Given the description of an element on the screen output the (x, y) to click on. 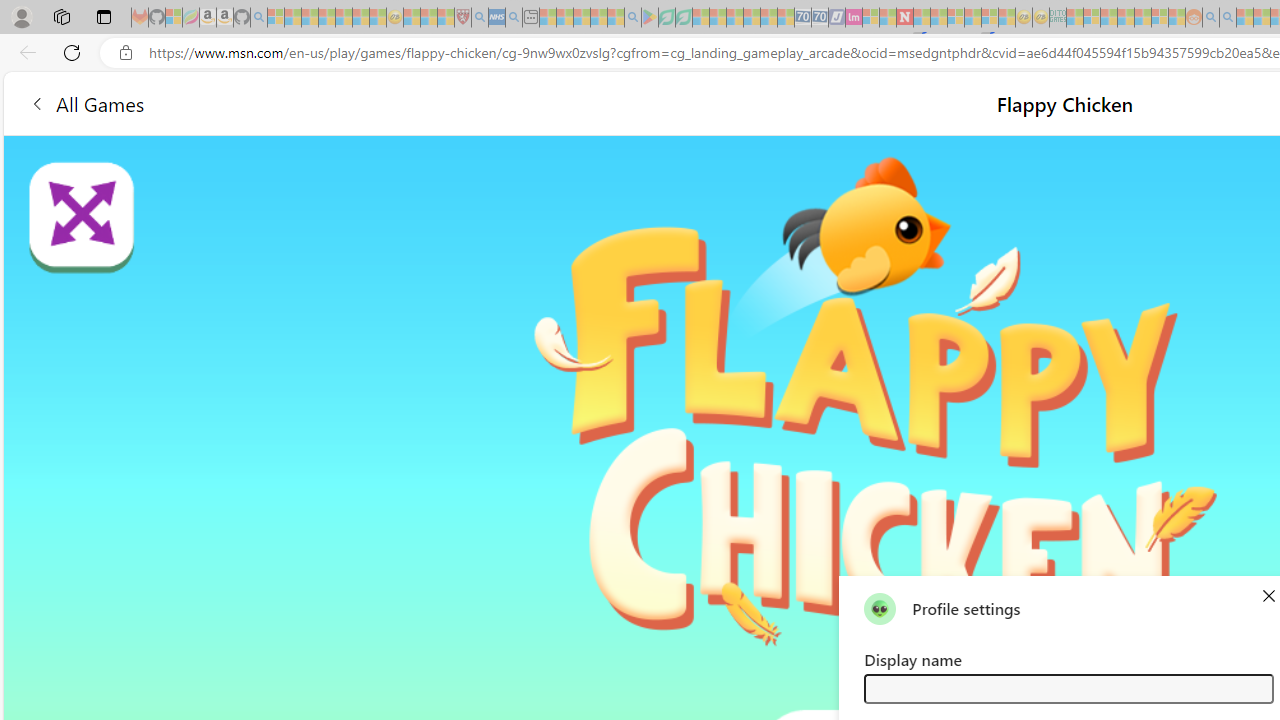
The Weather Channel - MSN - Sleeping (309, 17)
Local - MSN - Sleeping (445, 17)
All Games (373, 102)
Cheap Hotels - Save70.com - Sleeping (819, 17)
google - Search - Sleeping (632, 17)
